Given the description of an element on the screen output the (x, y) to click on. 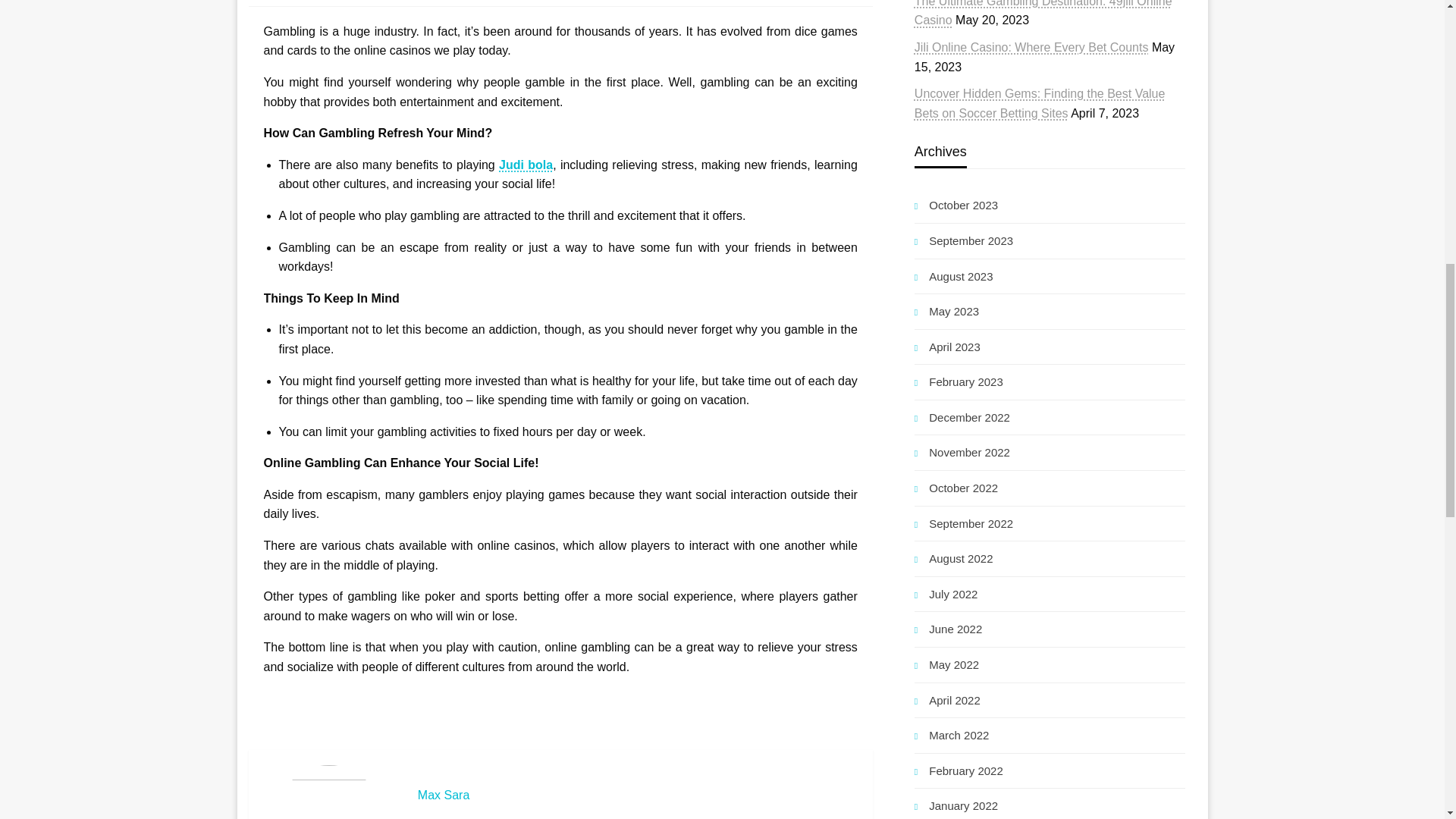
Max Sara (637, 795)
Judi bola (526, 164)
Max Sara (637, 795)
